Given the description of an element on the screen output the (x, y) to click on. 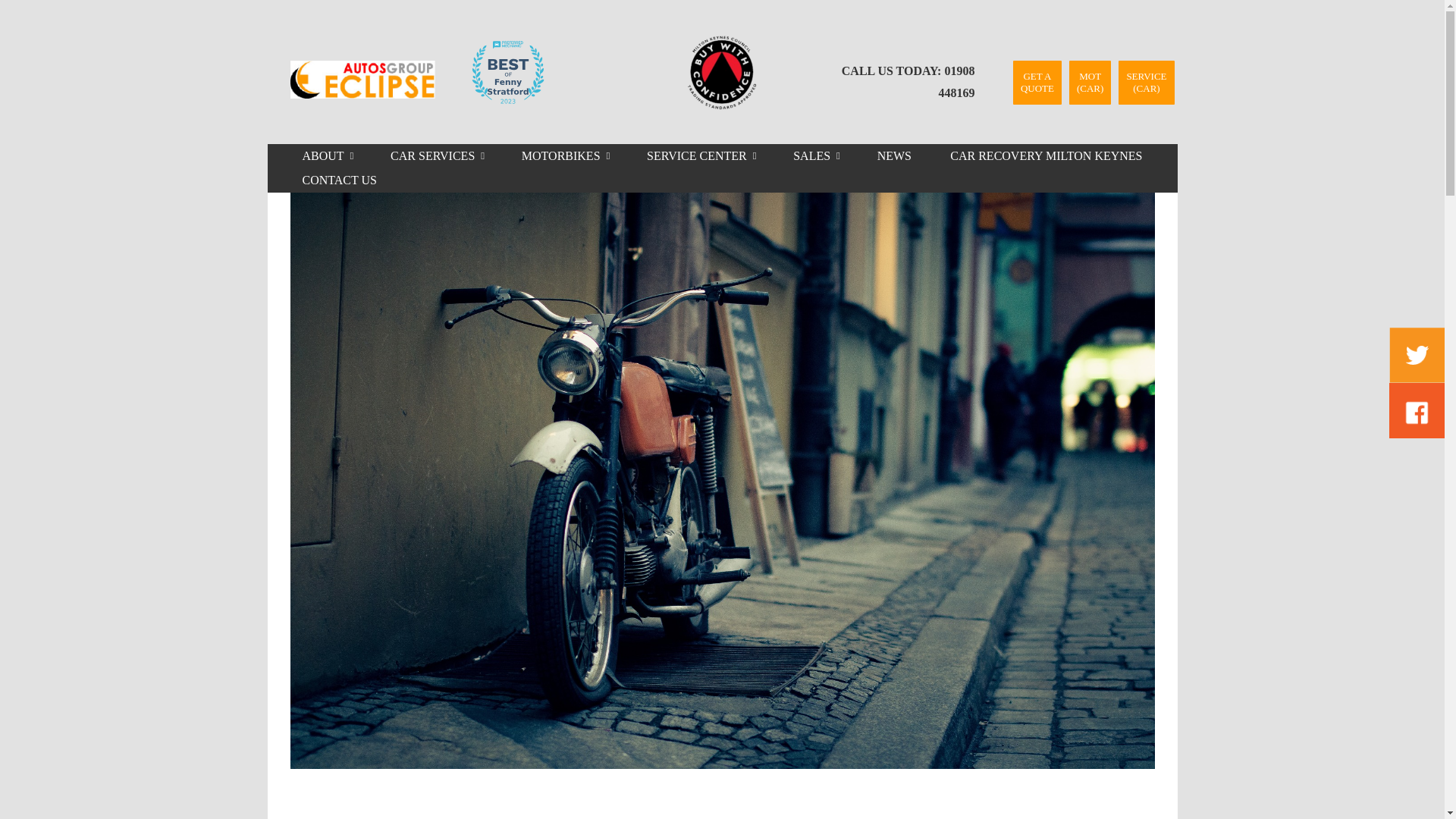
SERVICE CENTER (693, 156)
CAR SERVICES (429, 156)
MOTORBIKES (558, 156)
ABOUT (319, 156)
GET A QUOTE (1037, 82)
